Given the description of an element on the screen output the (x, y) to click on. 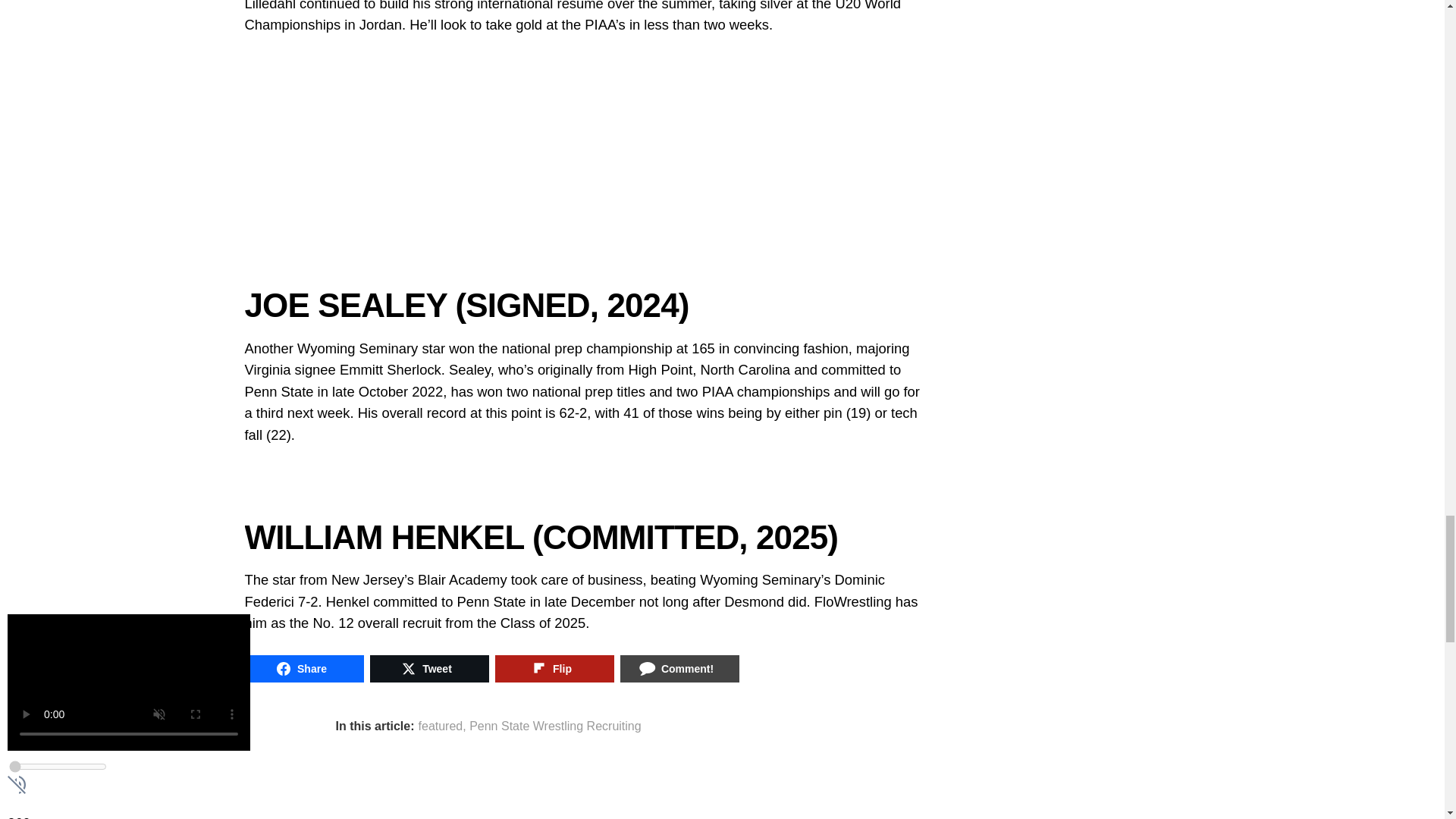
Share on Comment! (679, 668)
Share on Tweet (429, 668)
Share on Flip (553, 668)
Share on Share (303, 668)
